Given the description of an element on the screen output the (x, y) to click on. 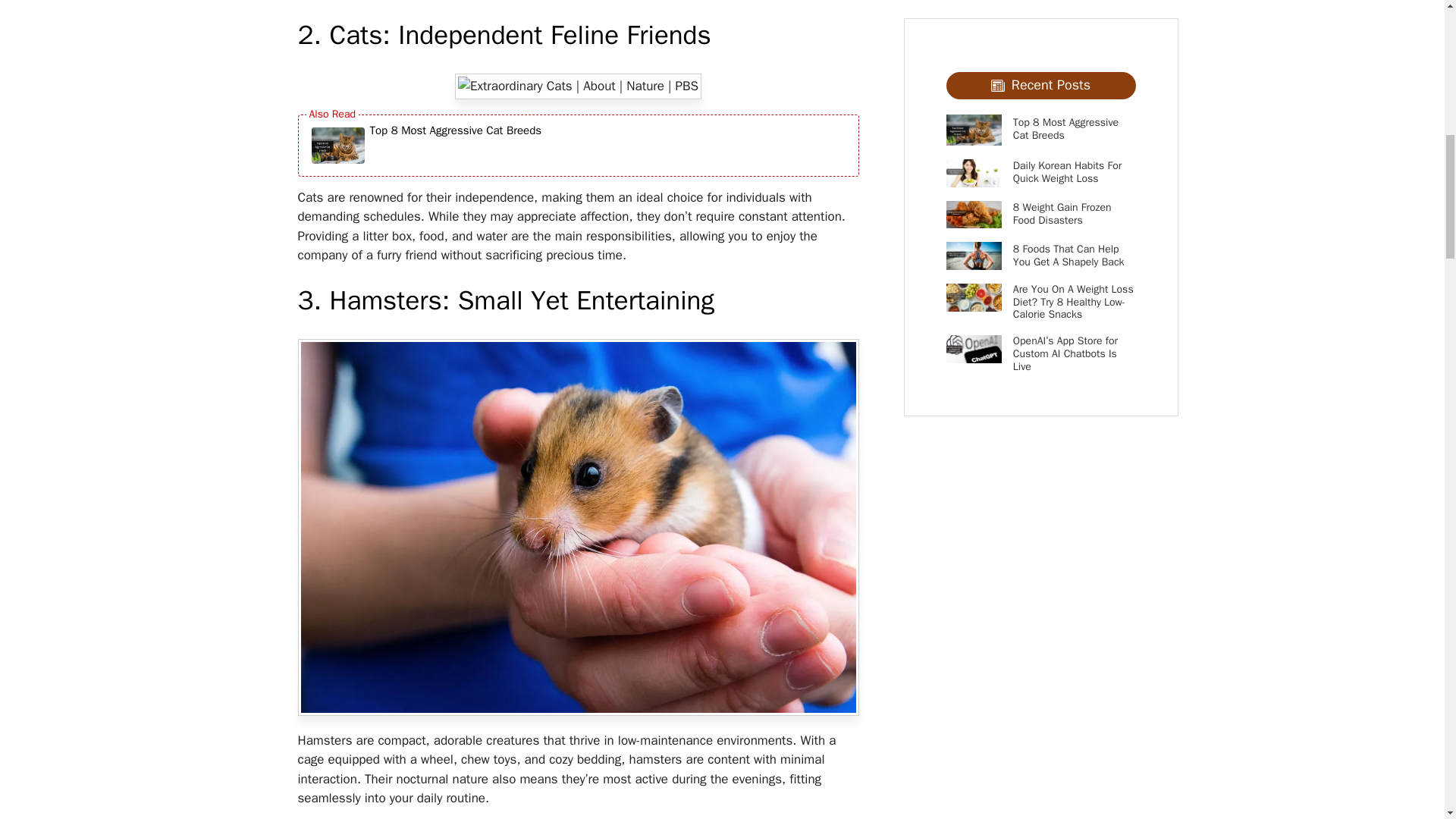
Top 8 Most Aggressive Cat Breeds (455, 145)
